Given the description of an element on the screen output the (x, y) to click on. 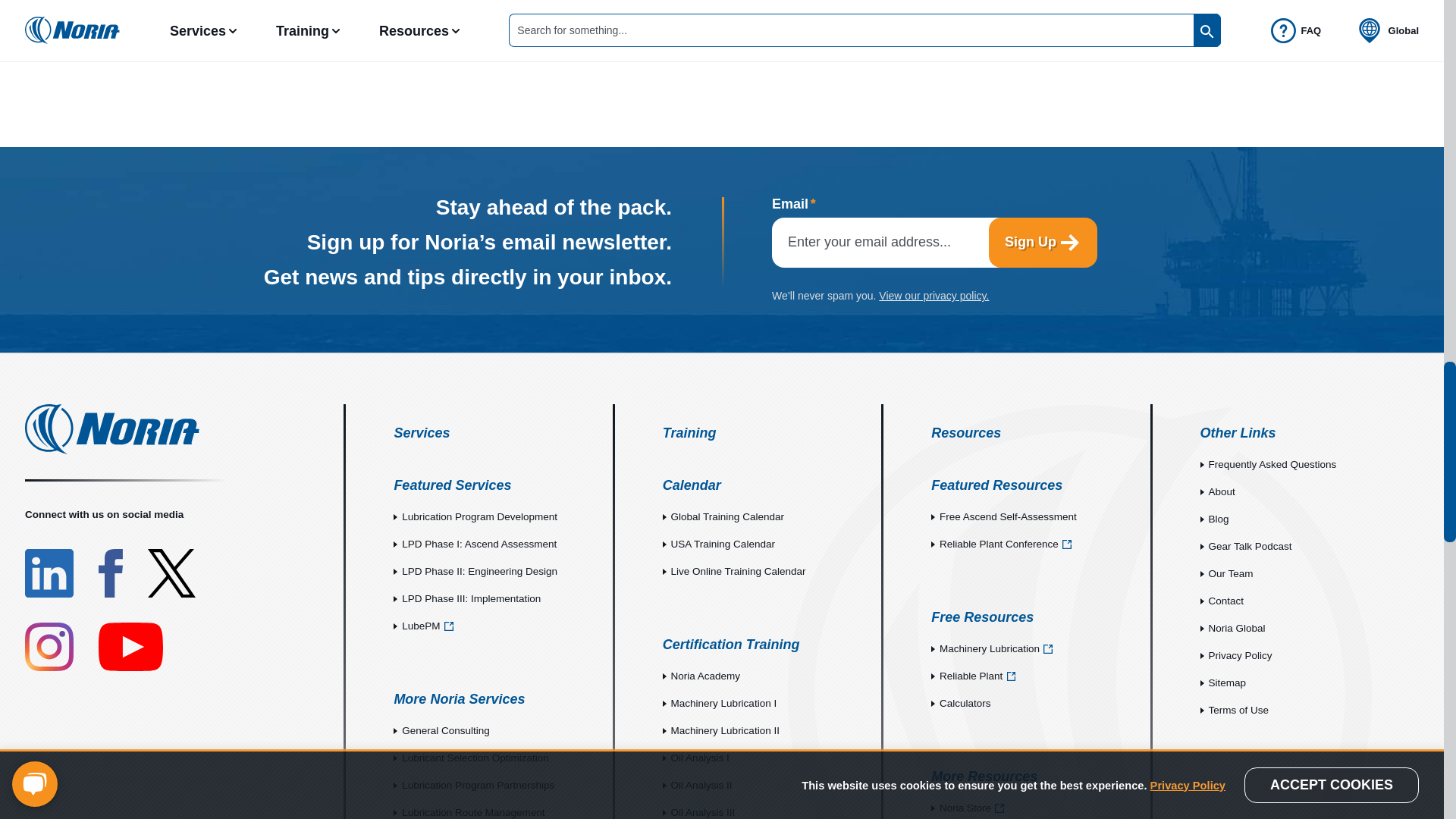
Sign Up (1042, 241)
